Given the description of an element on the screen output the (x, y) to click on. 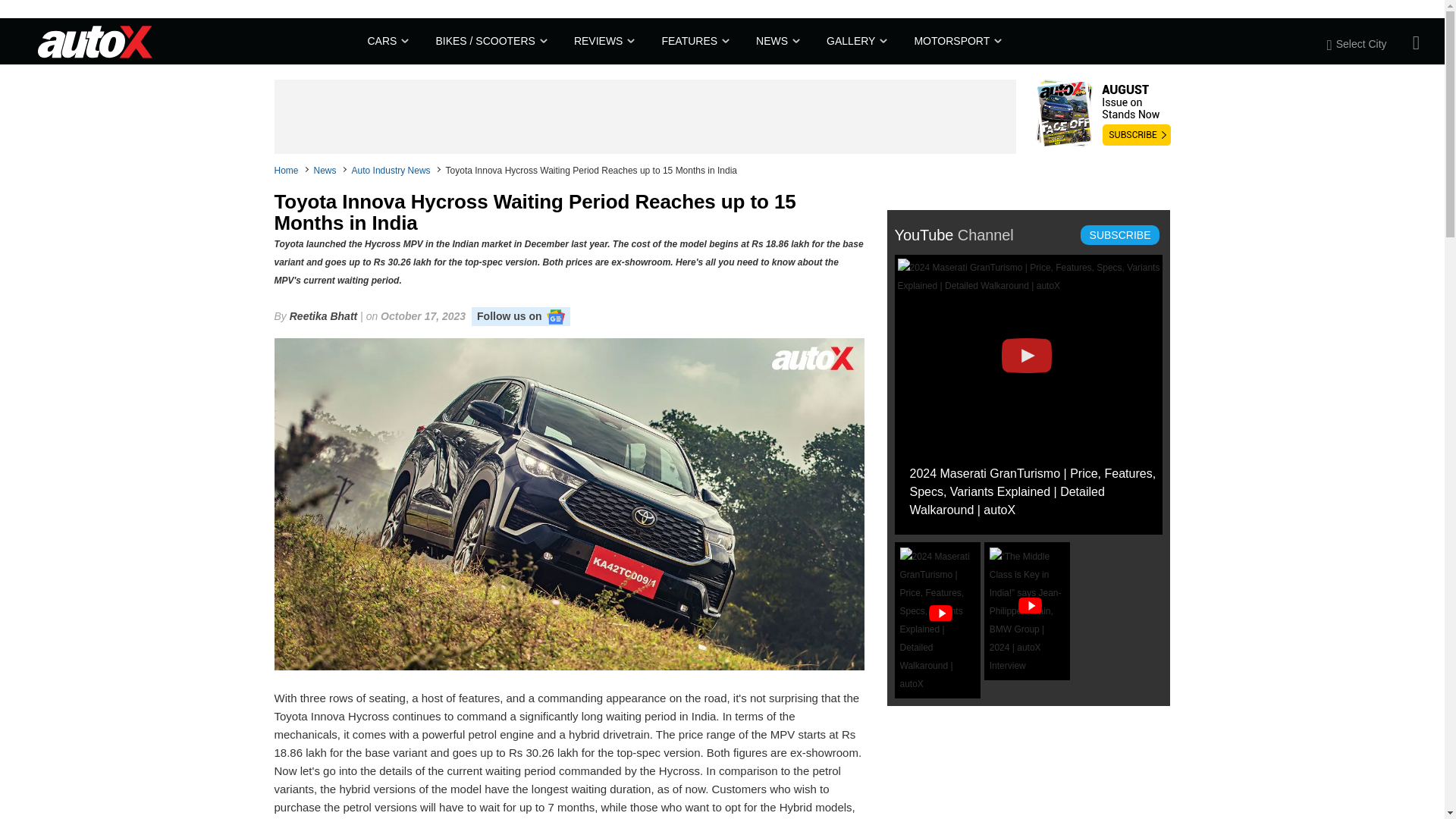
CARS (386, 40)
REVIEWS (601, 40)
Select City (1364, 43)
